Given the description of an element on the screen output the (x, y) to click on. 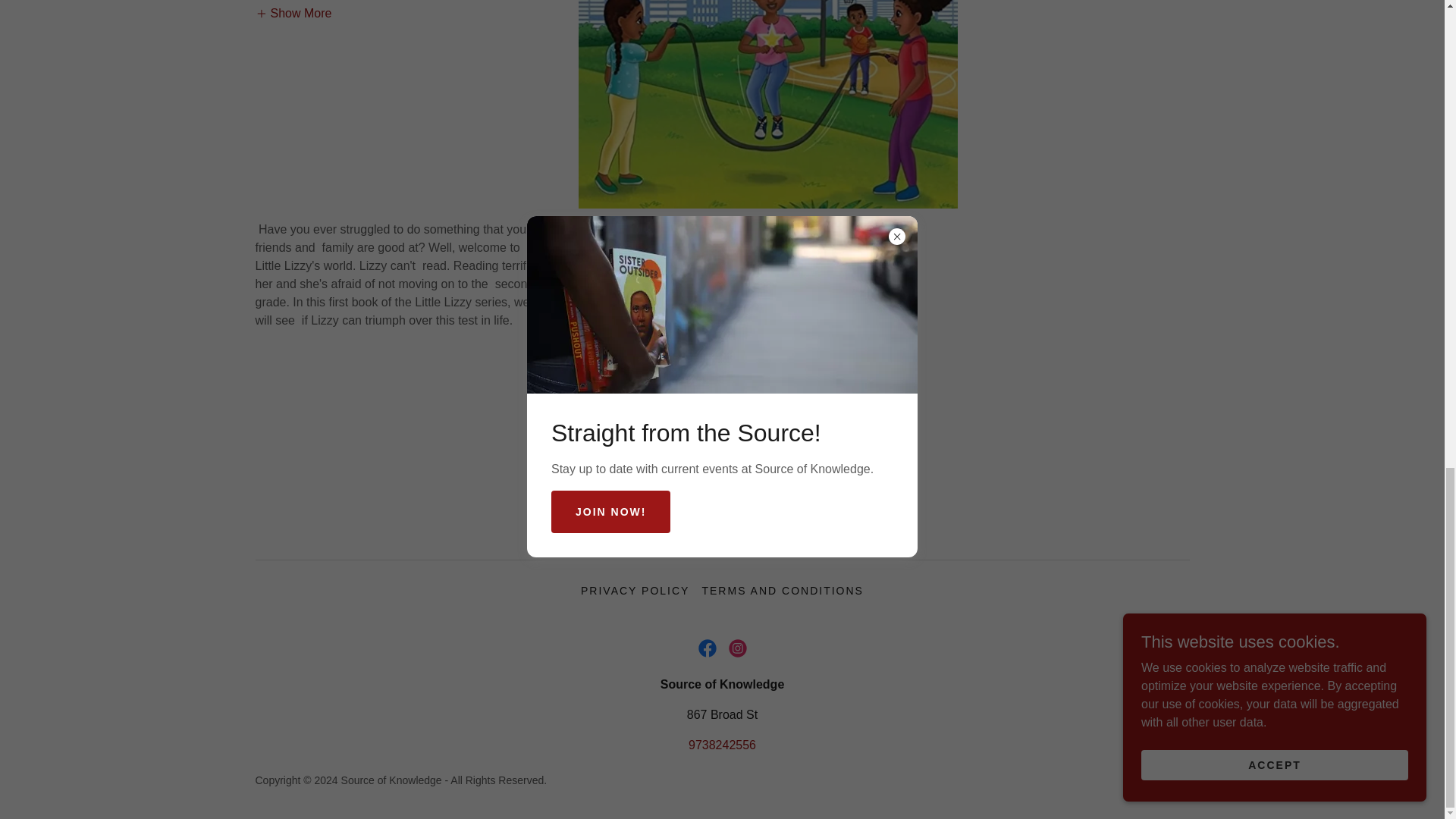
TERMS AND CONDITIONS (782, 590)
PRIVACY POLICY (635, 590)
9738242556 (721, 744)
